Given the description of an element on the screen output the (x, y) to click on. 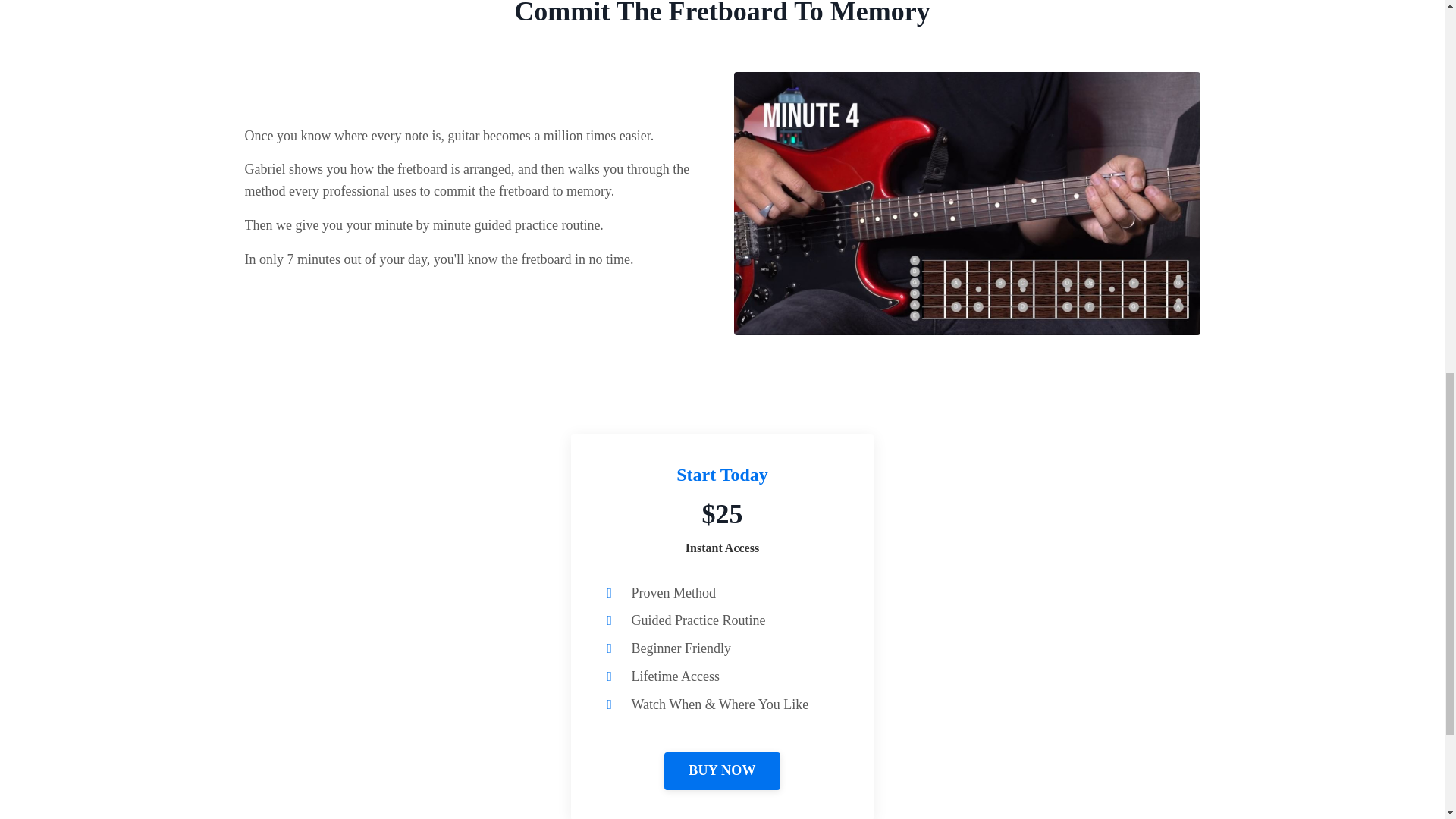
BUY NOW (721, 771)
